Given the description of an element on the screen output the (x, y) to click on. 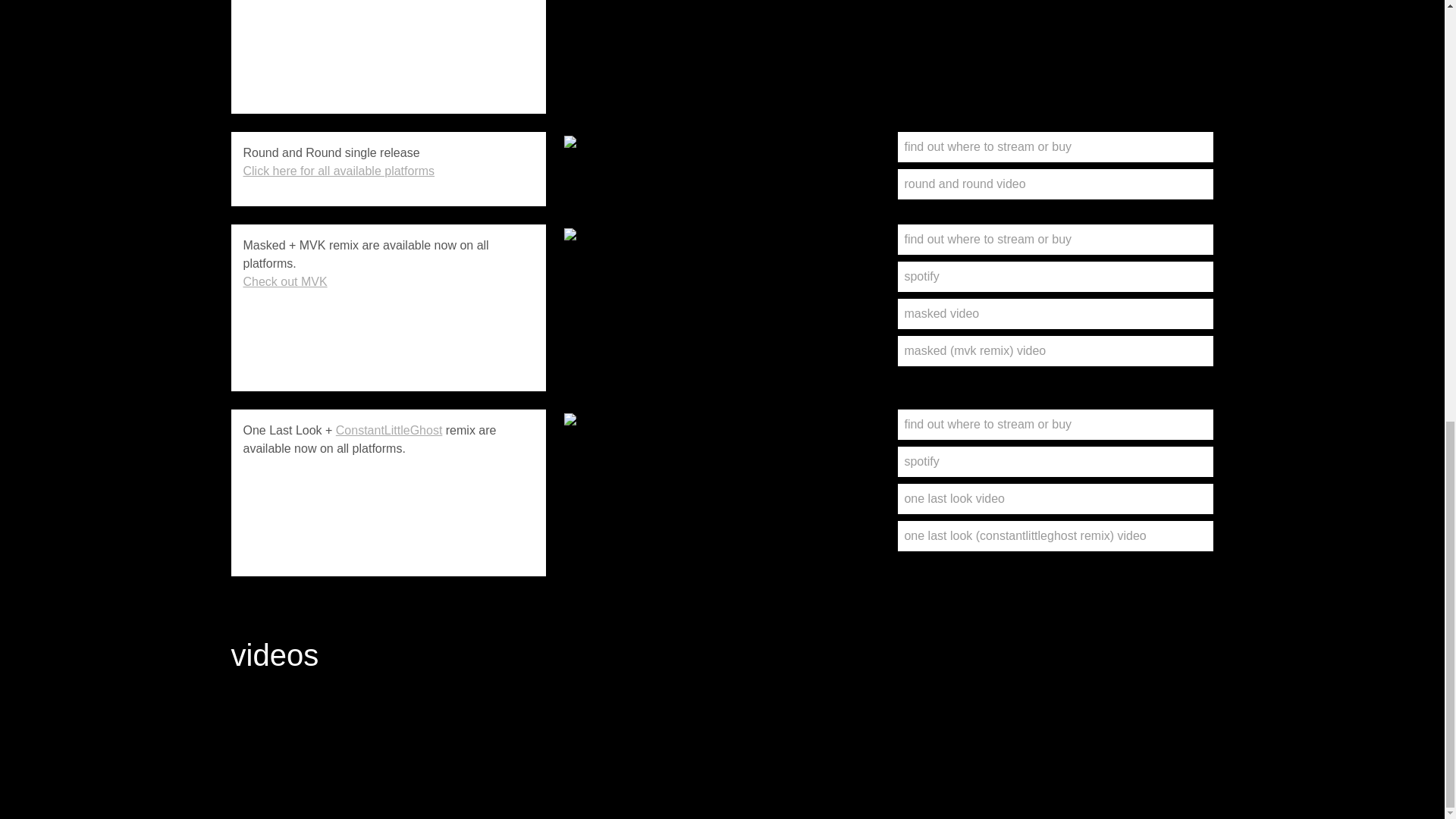
ConstantLittleGhost (389, 430)
spotify (1055, 461)
find out where to stream or buy (1055, 424)
Check out MVK (284, 281)
Click here for all available platforms (338, 170)
find out where to stream or buy (1055, 146)
masked video (1055, 313)
one last look video (1055, 499)
find out where to stream or buy (1055, 239)
spotify (1055, 276)
round and round video (1055, 183)
